Given the description of an element on the screen output the (x, y) to click on. 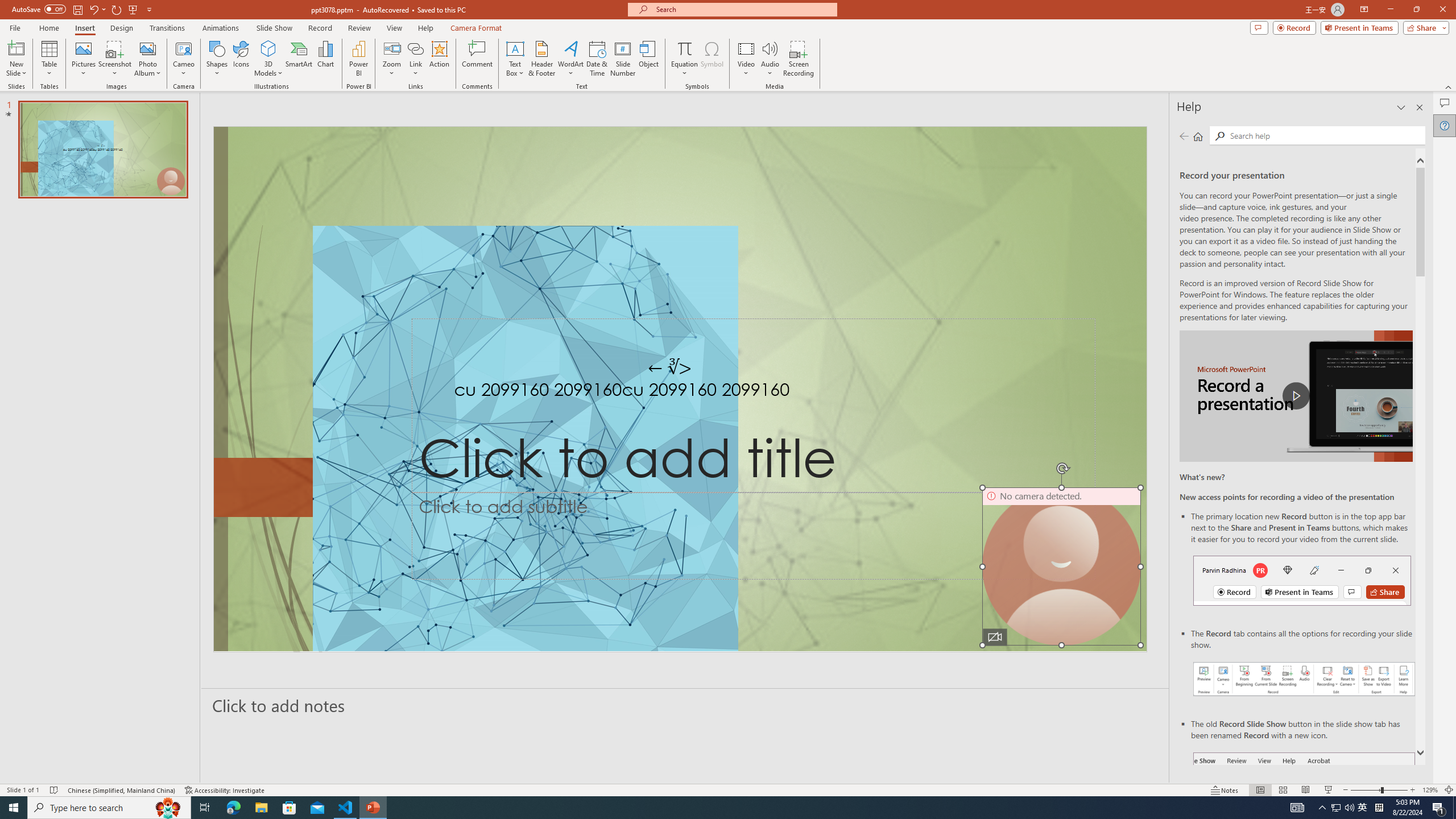
SmartArt... (298, 58)
Link (415, 48)
3D Models (268, 58)
Previous page (1183, 136)
